Given the description of an element on the screen output the (x, y) to click on. 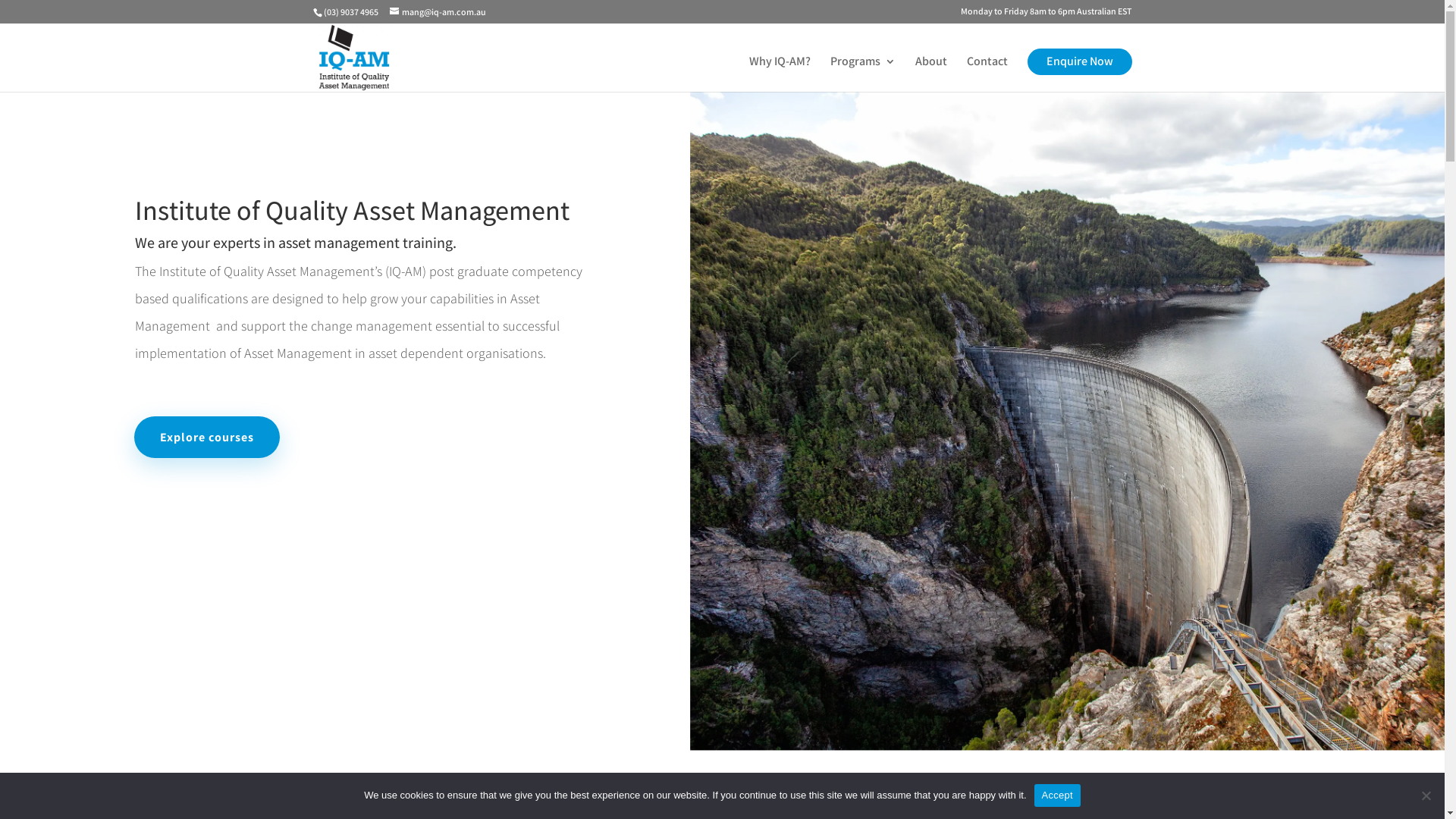
Accept Element type: text (1057, 795)
About Element type: text (930, 73)
mang@iq-am.com.au Element type: text (437, 11)
Monday to Friday 8am to 6pm Australian EST Element type: text (1045, 14)
Contact Element type: text (986, 73)
Explore courses Element type: text (206, 436)
Programs Element type: text (861, 73)
No Element type: hover (1425, 795)
Why IQ-AM? Element type: text (779, 73)
Enquire Now Element type: text (1079, 73)
